Given the description of an element on the screen output the (x, y) to click on. 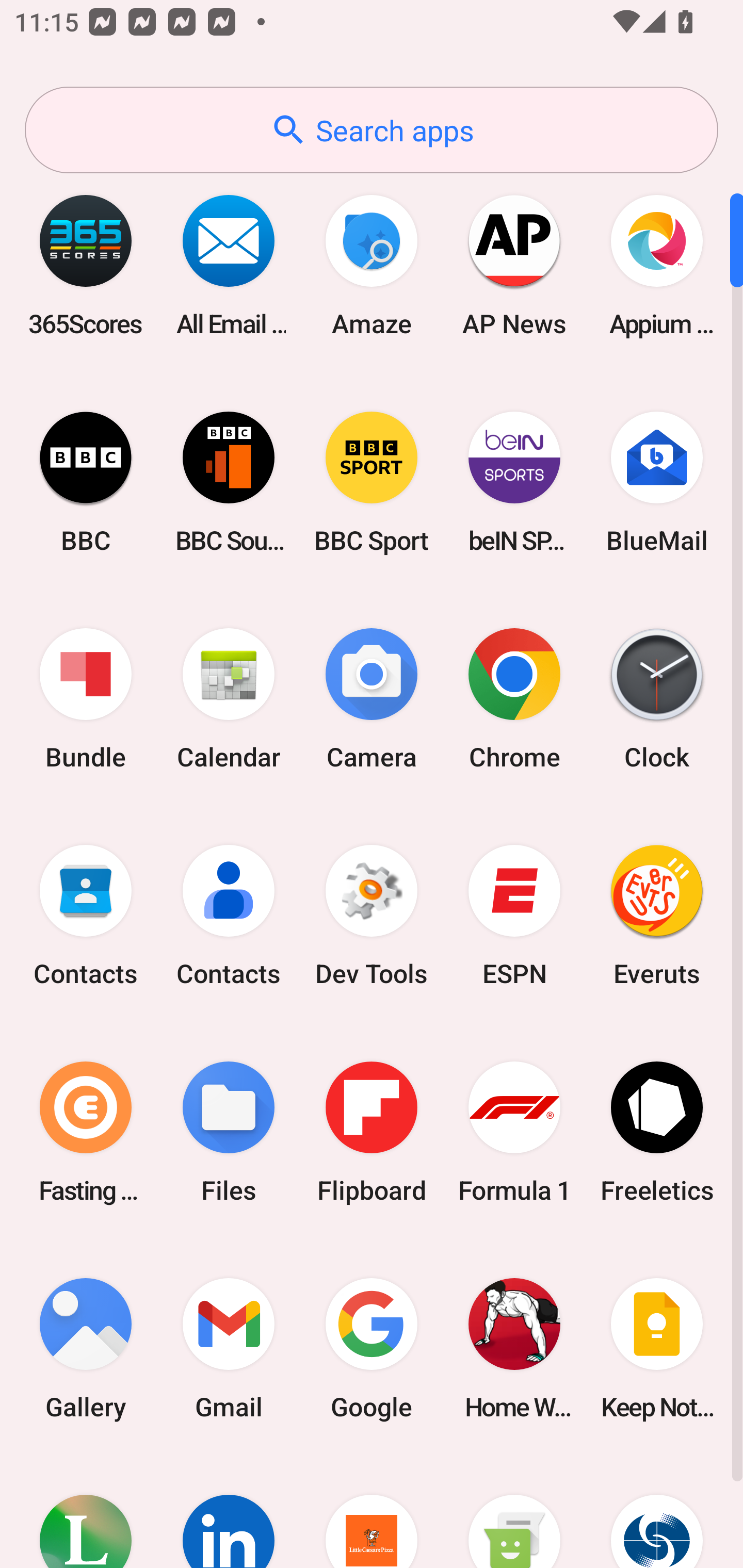
  Search apps (371, 130)
365Scores (85, 264)
All Email Connect (228, 264)
Amaze (371, 264)
AP News (514, 264)
Appium Settings (656, 264)
BBC (85, 482)
BBC Sounds (228, 482)
BBC Sport (371, 482)
beIN SPORTS (514, 482)
BlueMail (656, 482)
Bundle (85, 699)
Calendar (228, 699)
Camera (371, 699)
Chrome (514, 699)
Clock (656, 699)
Contacts (85, 915)
Contacts (228, 915)
Dev Tools (371, 915)
ESPN (514, 915)
Everuts (656, 915)
Fasting Coach (85, 1131)
Files (228, 1131)
Flipboard (371, 1131)
Formula 1 (514, 1131)
Freeletics (656, 1131)
Gallery (85, 1348)
Gmail (228, 1348)
Google (371, 1348)
Home Workout (514, 1348)
Keep Notes (656, 1348)
Lifesum (85, 1512)
LinkedIn (228, 1512)
Little Caesars Pizza (371, 1512)
Messaging (514, 1512)
MyObservatory (656, 1512)
